Given the description of an element on the screen output the (x, y) to click on. 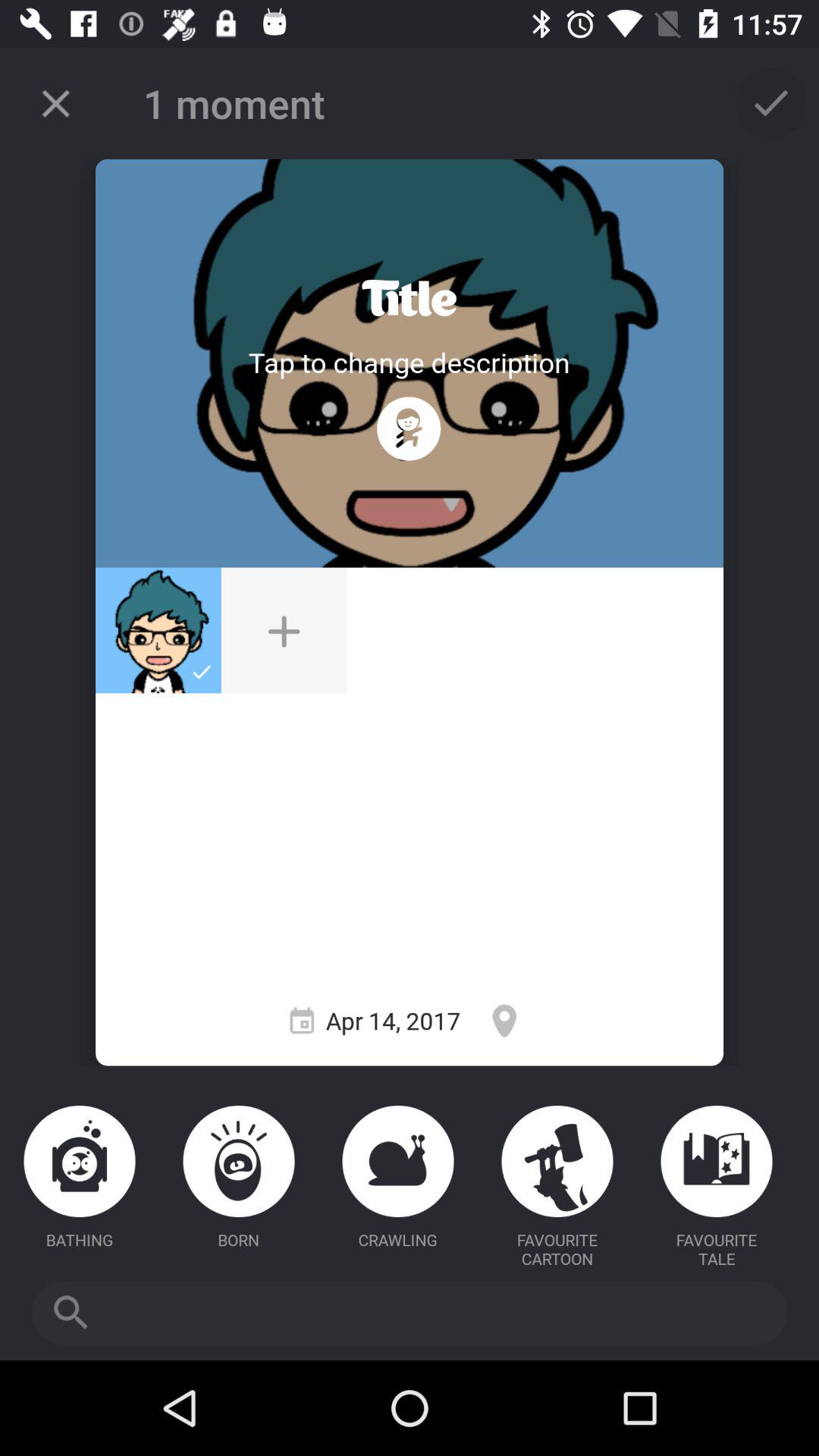
close (55, 103)
